Given the description of an element on the screen output the (x, y) to click on. 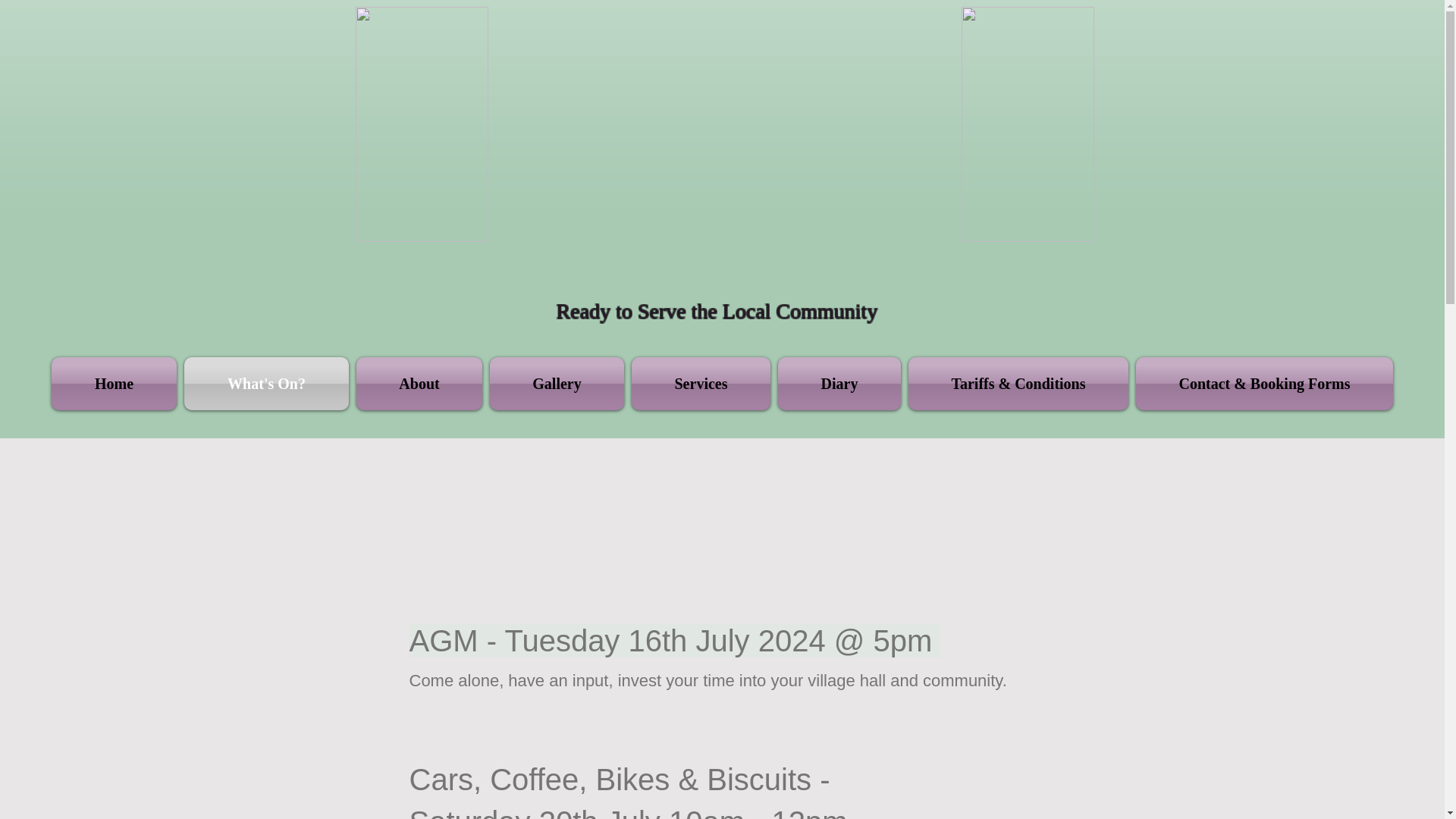
Diary (839, 383)
About (419, 383)
Gallery (556, 383)
Services (700, 383)
What's On? (266, 383)
Home (115, 383)
